Given the description of an element on the screen output the (x, y) to click on. 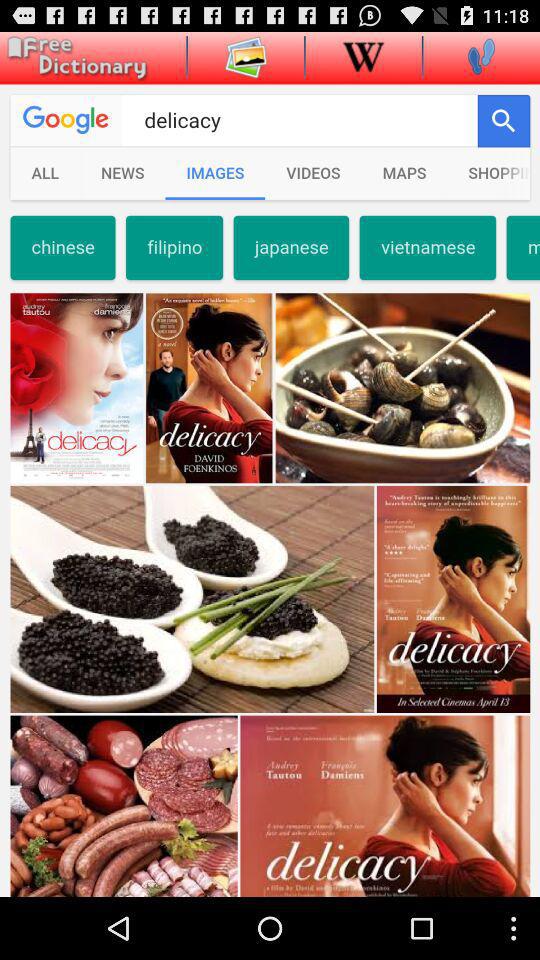
view images (246, 56)
